Given the description of an element on the screen output the (x, y) to click on. 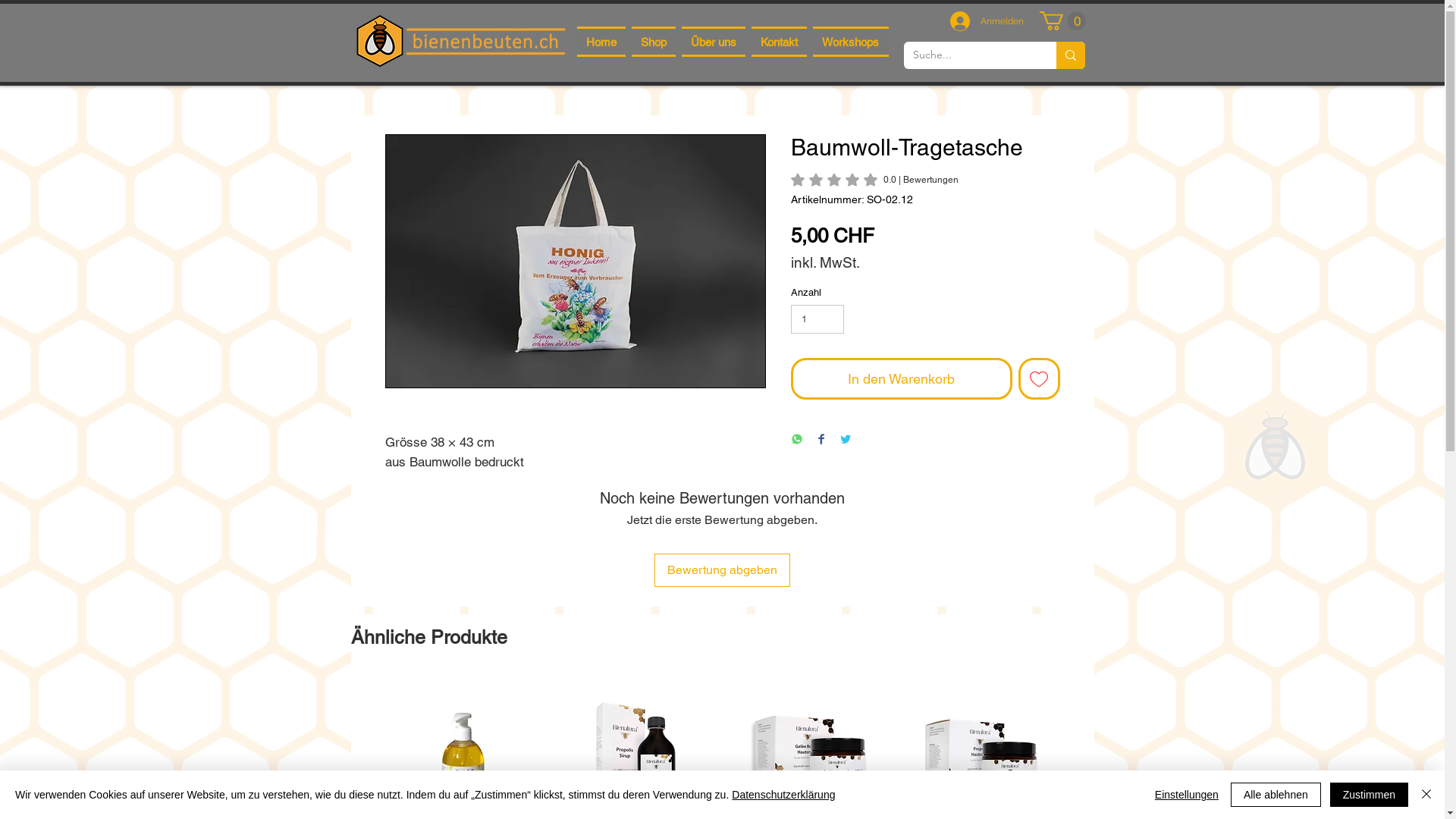
In den Warenkorb Element type: text (900, 378)
0 Element type: text (1061, 20)
Workshops Element type: text (850, 41)
Anmelden Element type: text (985, 20)
Bewertung abgeben Element type: text (722, 569)
Alle ablehnen Element type: text (1275, 794)
Zustimmen Element type: text (1369, 794)
Home Element type: text (600, 41)
Kontakt Element type: text (778, 41)
